Given the description of an element on the screen output the (x, y) to click on. 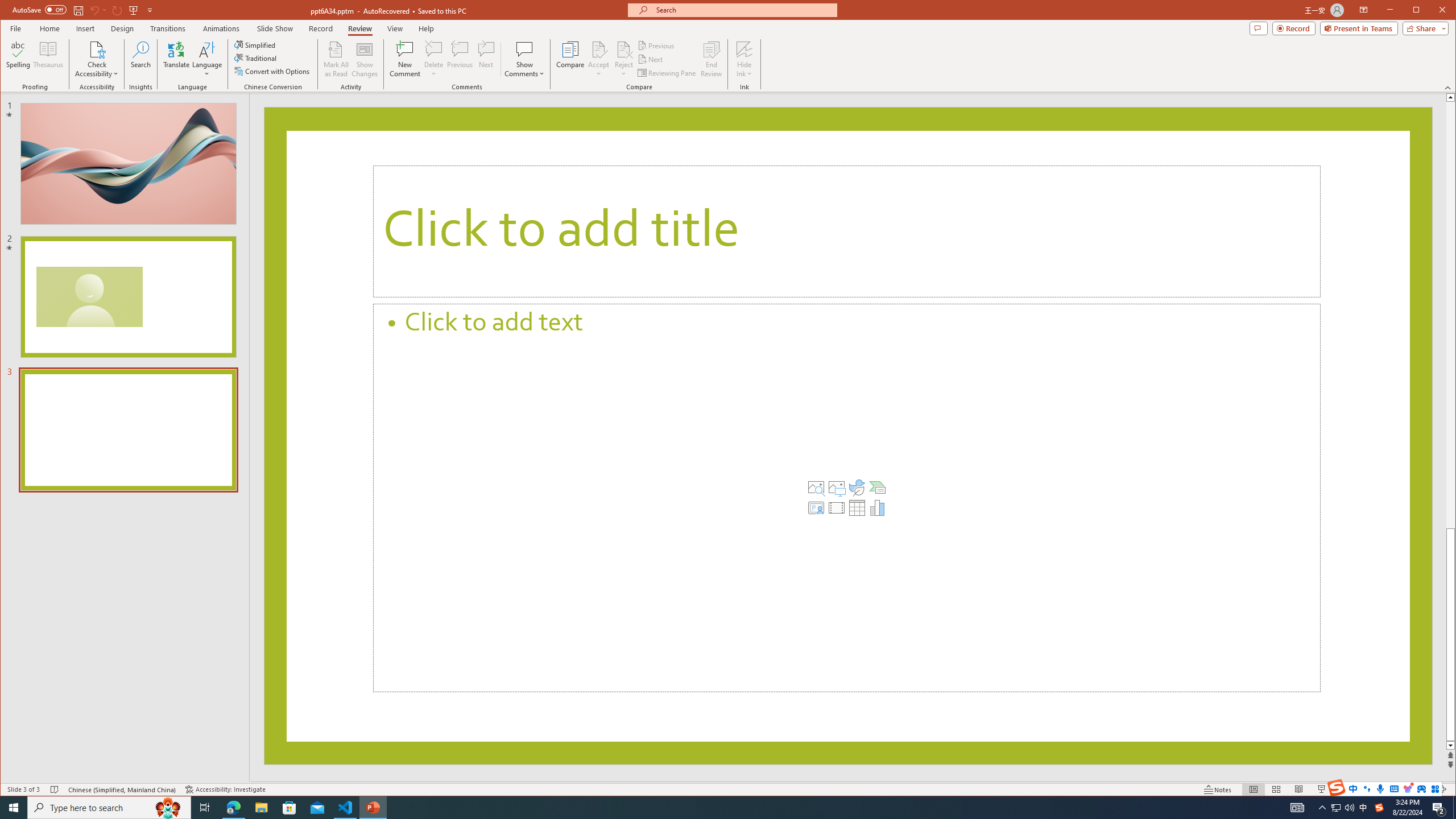
Zoom 161% (1422, 789)
